Given the description of an element on the screen output the (x, y) to click on. 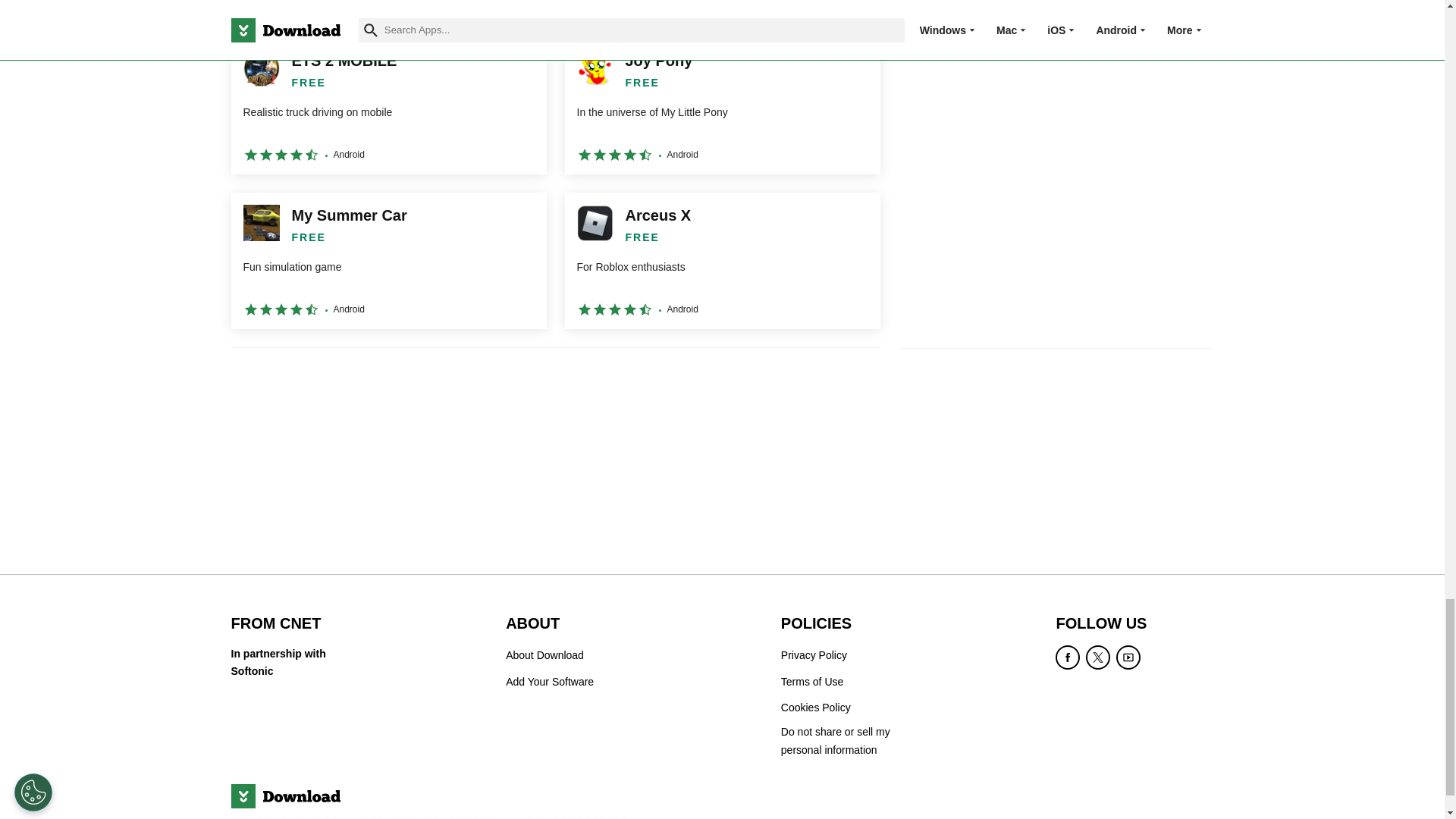
Joy Pony (721, 105)
Download.com (284, 795)
Arceus X (721, 260)
ETS 2 MOBILE (388, 105)
Become a Facebook fan of Download.com (1067, 657)
My Summer Car (388, 260)
